Given the description of an element on the screen output the (x, y) to click on. 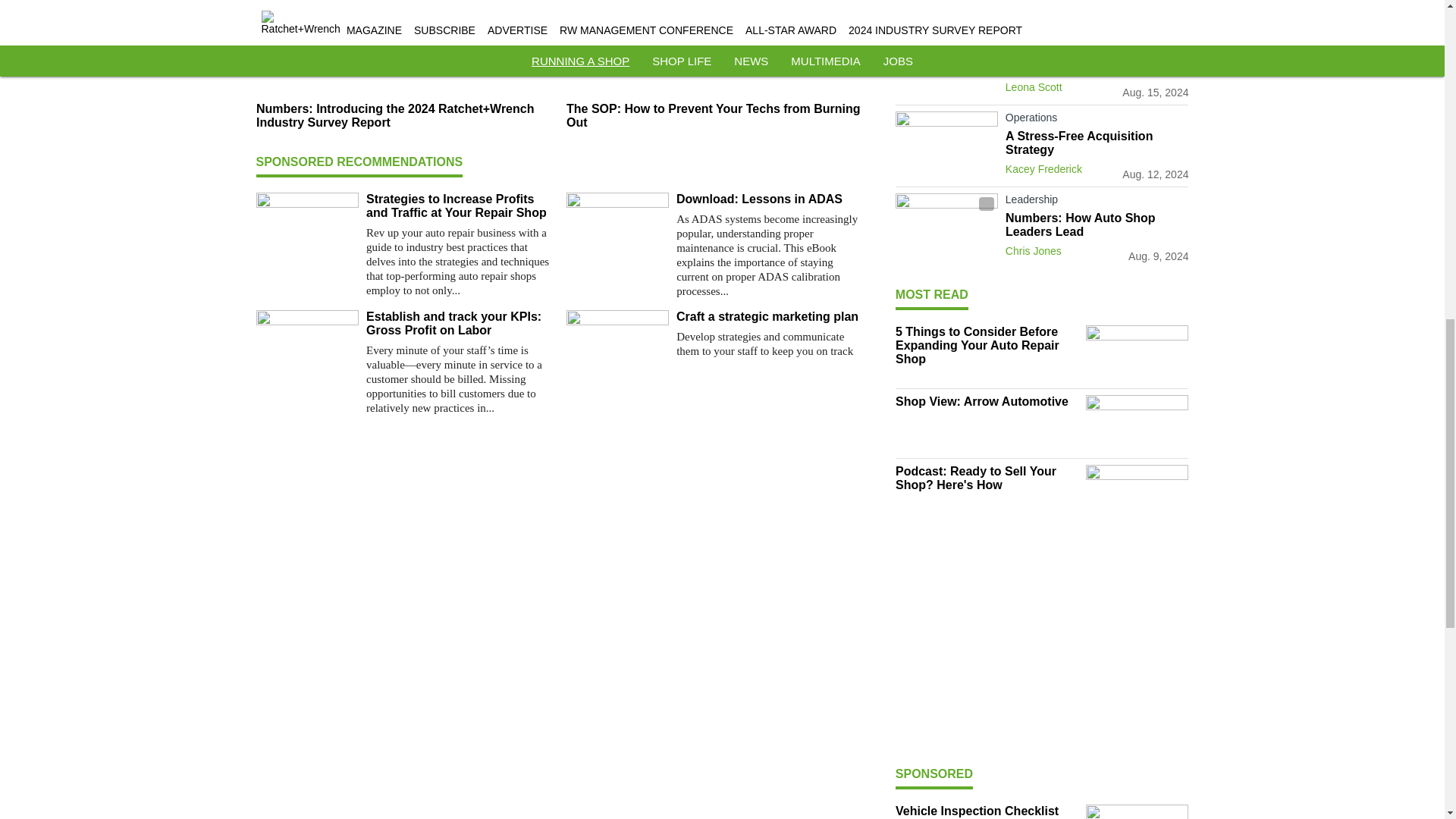
Operations (1097, 120)
5 Things to Consider Before Expanding Your Auto Repair Shop (1097, 54)
A Stress-Free Acquisition Strategy (1097, 143)
Establish and track your KPIs: Gross Profit on Labor (459, 323)
Operations (1097, 24)
Craft a strategic marketing plan (770, 316)
Kacey Frederick (1043, 168)
Leona Scott (1034, 87)
Download: Lessons in ADAS (770, 199)
